Given the description of an element on the screen output the (x, y) to click on. 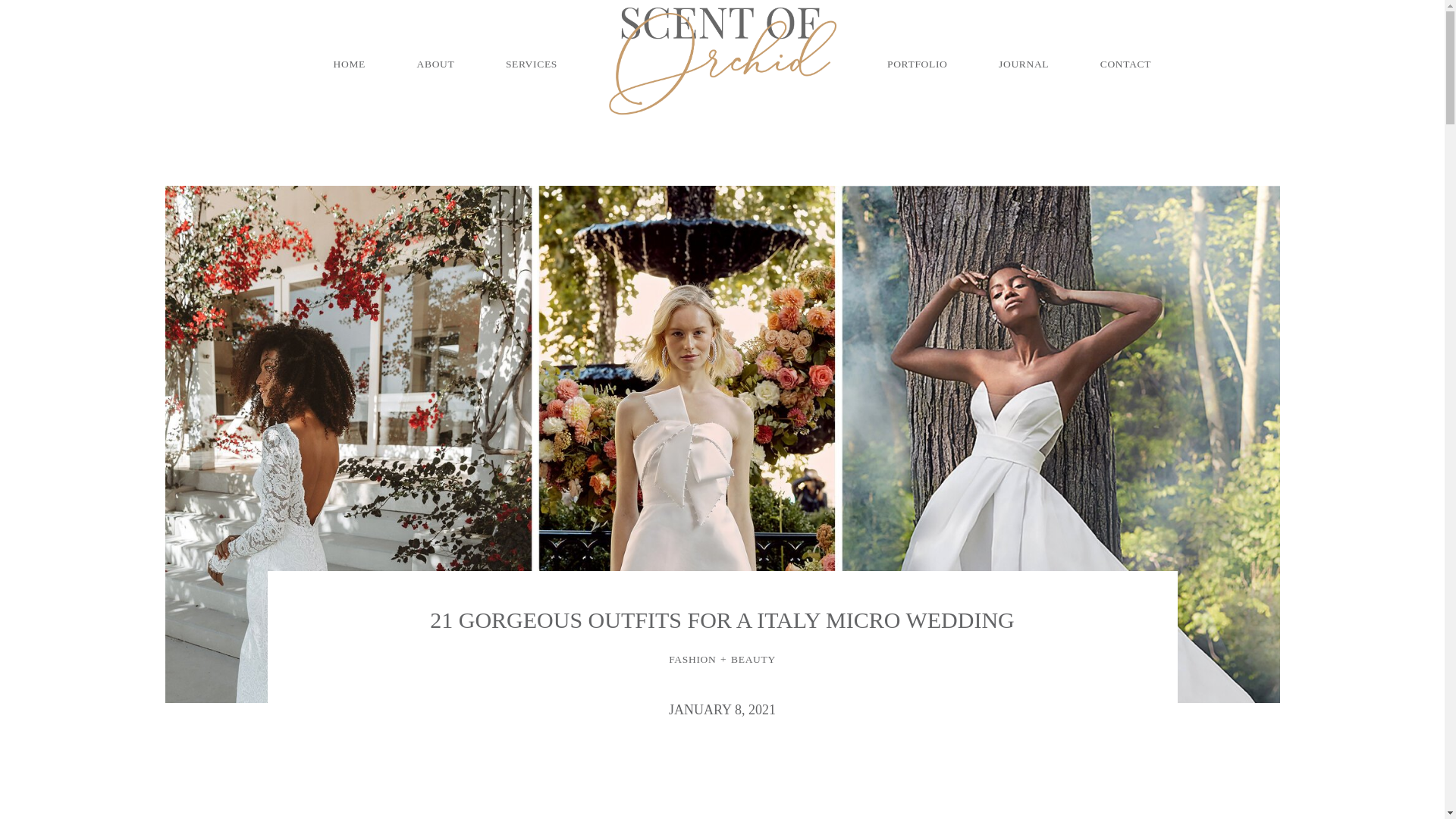
HOME (349, 64)
CONTACT (1125, 64)
JOURNAL (1023, 64)
PORTFOLIO (916, 64)
SERVICES (531, 64)
ABOUT (435, 64)
